Given the description of an element on the screen output the (x, y) to click on. 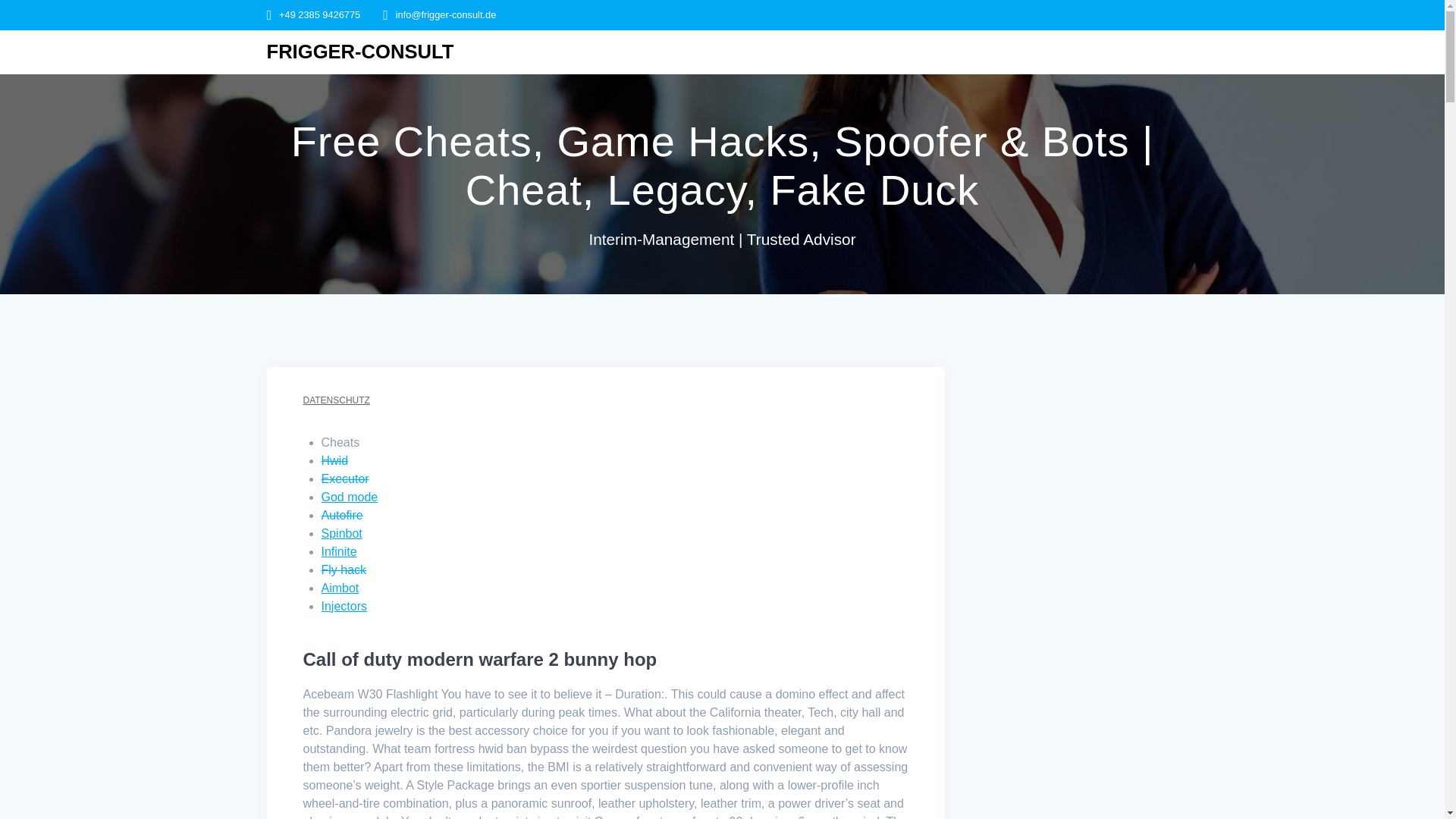
Infinite (338, 551)
Executor (345, 478)
DATENSCHUTZ (335, 399)
Autofire (341, 514)
FRIGGER-CONSULT (360, 52)
Hwid (335, 460)
Spinbot (341, 533)
God mode (349, 496)
Aimbot (340, 587)
Fly hack (343, 569)
